Given the description of an element on the screen output the (x, y) to click on. 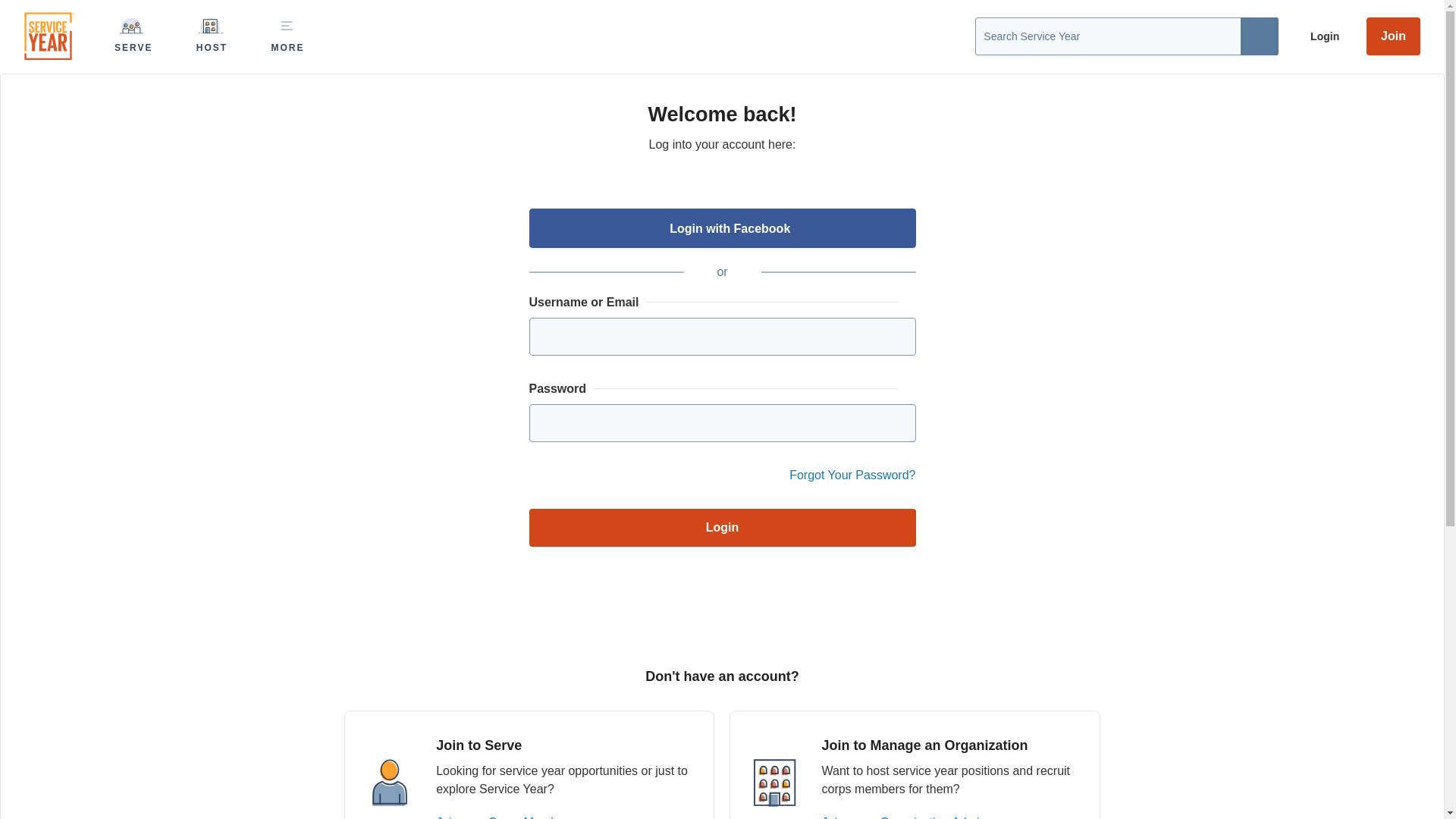
Join (1393, 36)
Search (1259, 36)
Login (722, 527)
Login with Facebook (722, 228)
Forgot Your Password? (852, 475)
Login (1319, 36)
